Given the description of an element on the screen output the (x, y) to click on. 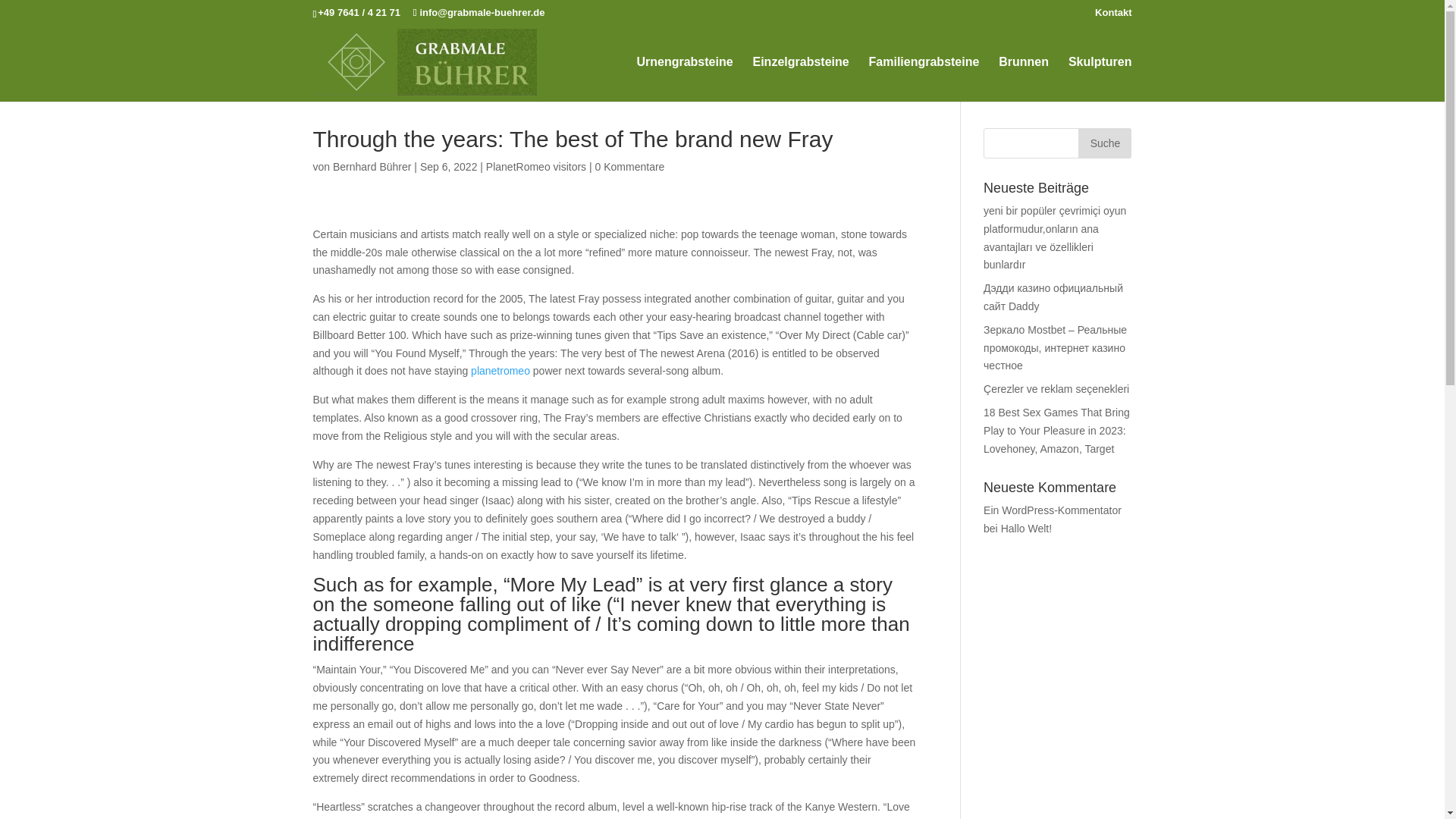
0 Kommentare (630, 166)
Suche (1104, 142)
Familiengrabsteine (924, 78)
Einzelgrabsteine (800, 78)
Ein WordPress-Kommentator (1052, 510)
Urnengrabsteine (684, 78)
planetromeo (499, 370)
Hallo Welt! (1026, 528)
Suche (1104, 142)
Skulpturen (1100, 78)
Brunnen (1023, 78)
Kontakt (1112, 16)
PlanetRomeo visitors (536, 166)
